Given the description of an element on the screen output the (x, y) to click on. 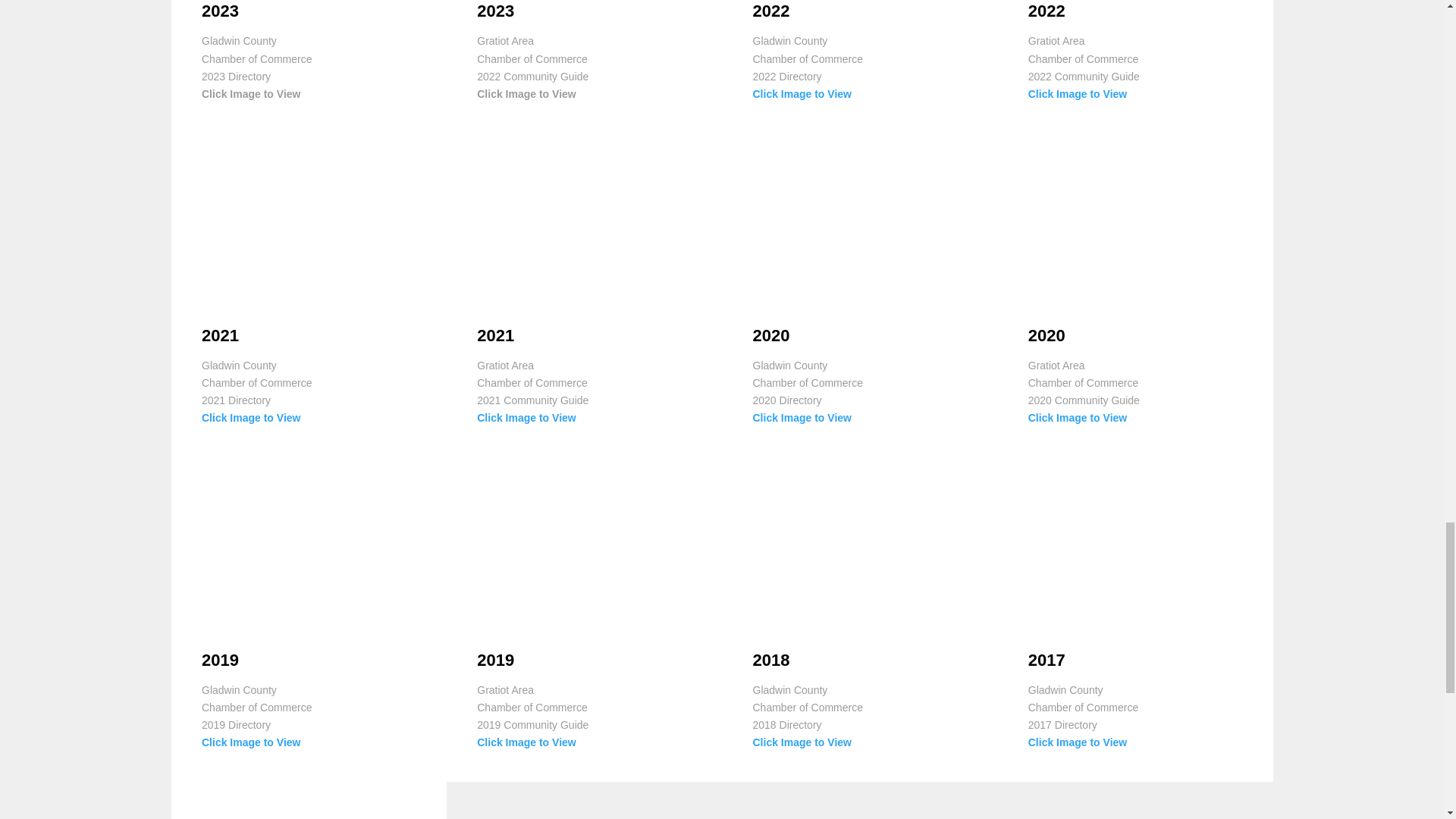
2019 (220, 659)
Click Image to View (801, 417)
Click Image to View (801, 93)
2020 (770, 334)
2022 (770, 10)
2020 (1046, 334)
2023 (220, 10)
2022 (1046, 10)
Click Image to View (526, 417)
2021 (495, 334)
